Given the description of an element on the screen output the (x, y) to click on. 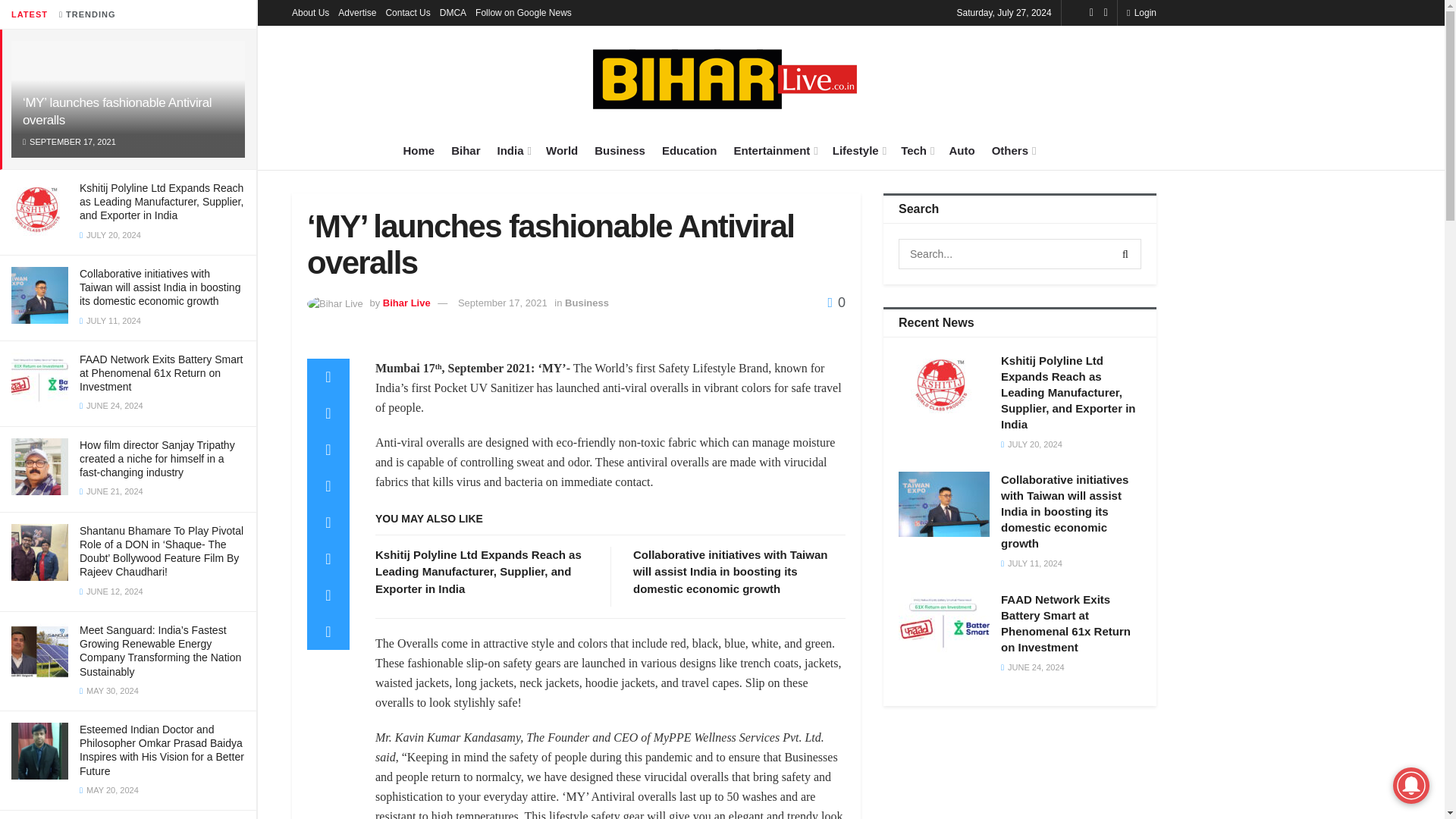
Login (1141, 12)
Advertise (356, 12)
Contact Us (407, 12)
Follow on Google News (524, 12)
DMCA (452, 12)
About Us (310, 12)
